Given the description of an element on the screen output the (x, y) to click on. 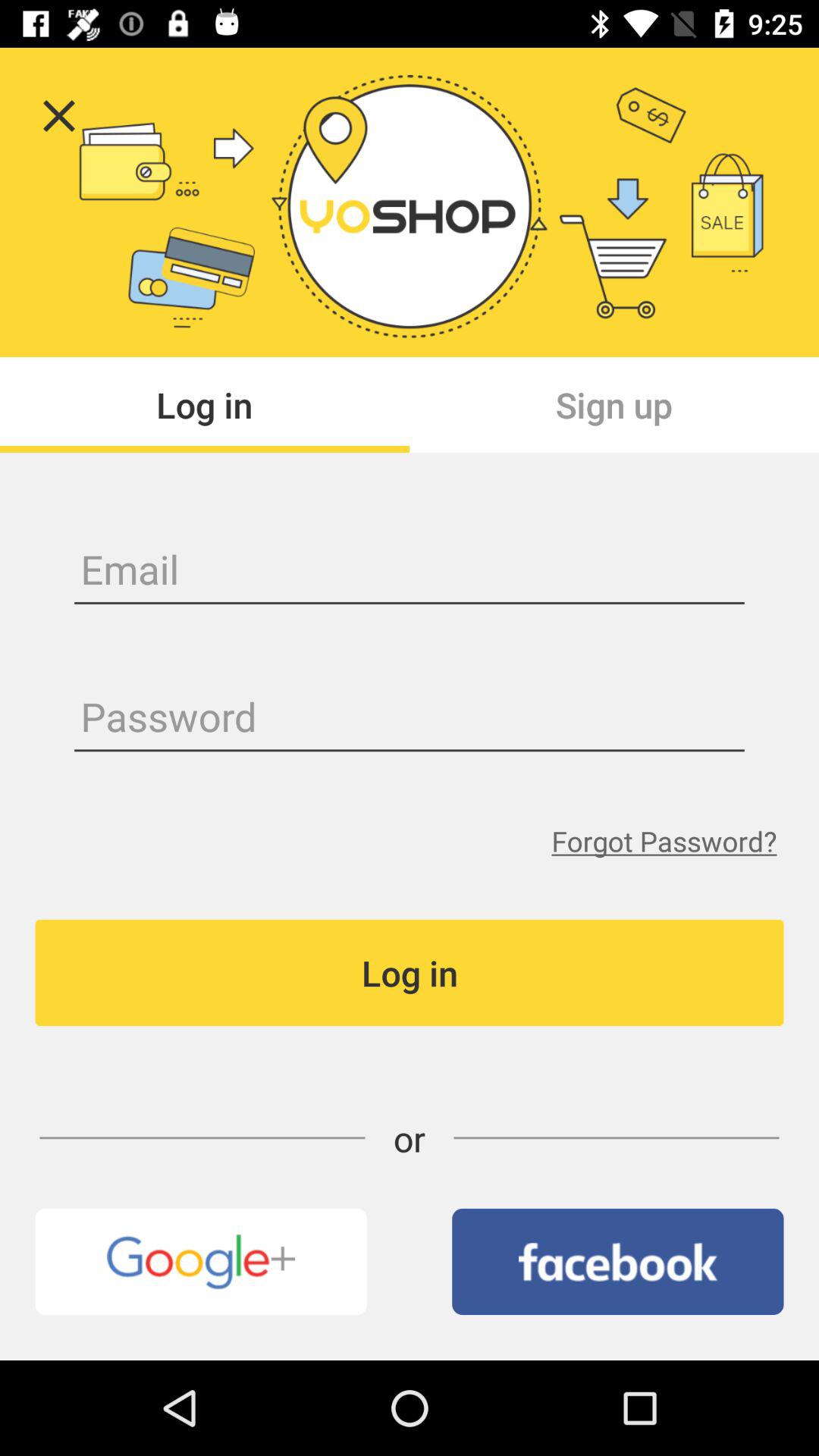
put your email (409, 571)
